Given the description of an element on the screen output the (x, y) to click on. 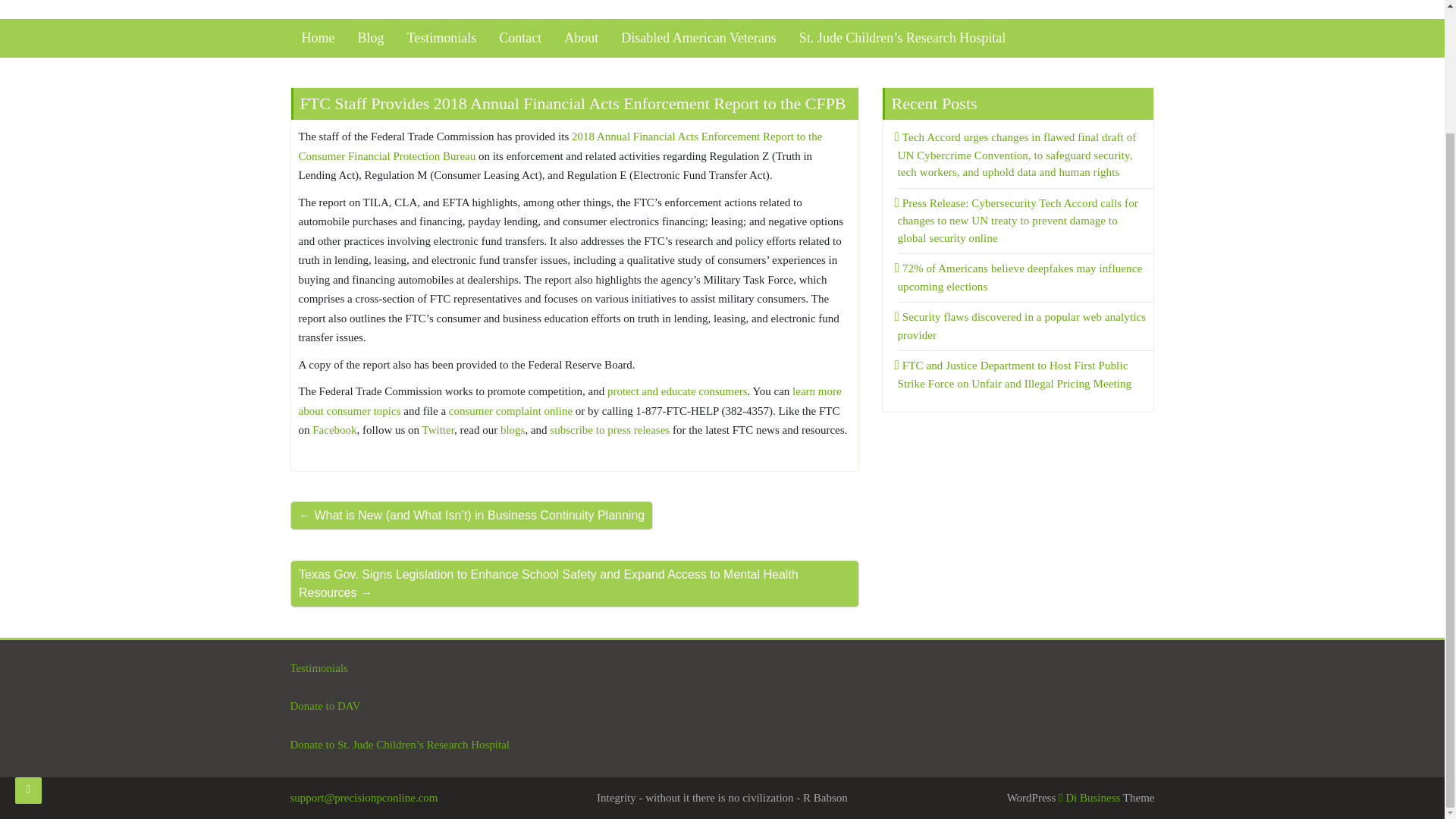
consumer complaint online (510, 410)
Testimonials (318, 667)
About (581, 37)
Donate to DAV (324, 705)
Twitter (438, 429)
Disabled American Veterans (698, 37)
protect and educate consumers (677, 390)
Testimonials (441, 37)
Facebook (334, 429)
subscribe to press releases (609, 429)
Contact (520, 37)
